Given the description of an element on the screen output the (x, y) to click on. 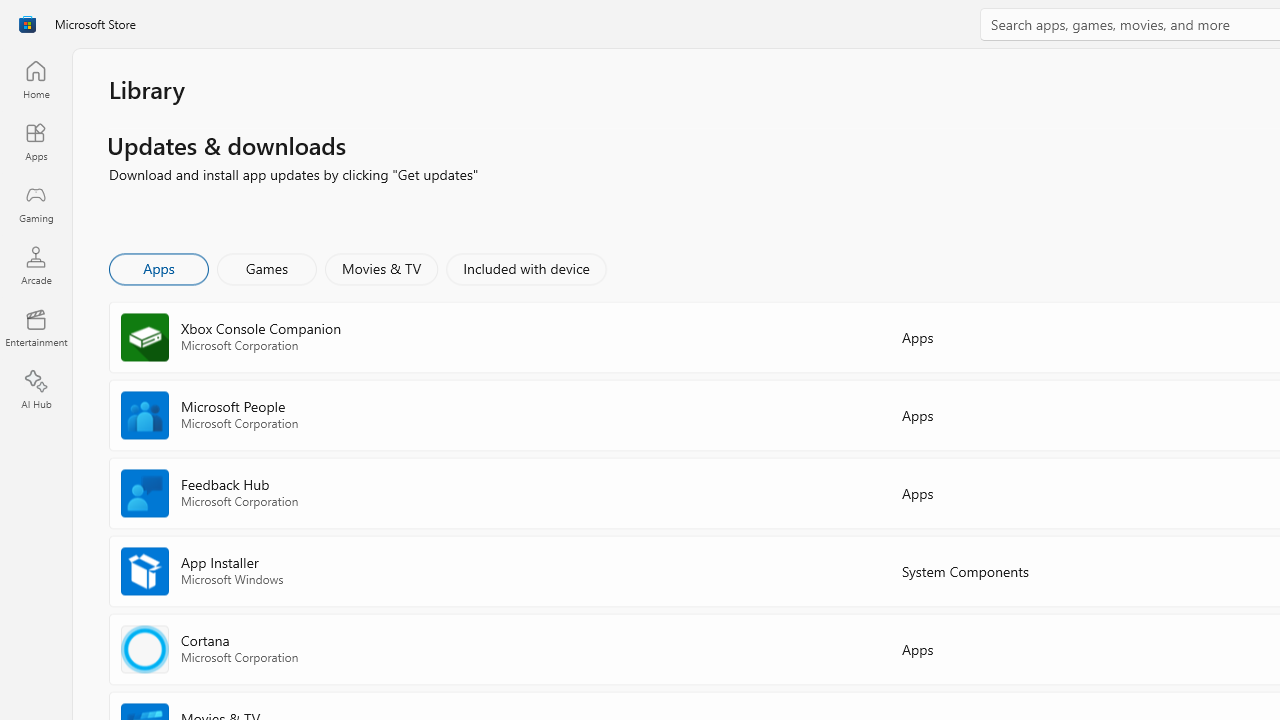
Included with device (525, 268)
Games (267, 268)
Movies & TV (381, 268)
